Given the description of an element on the screen output the (x, y) to click on. 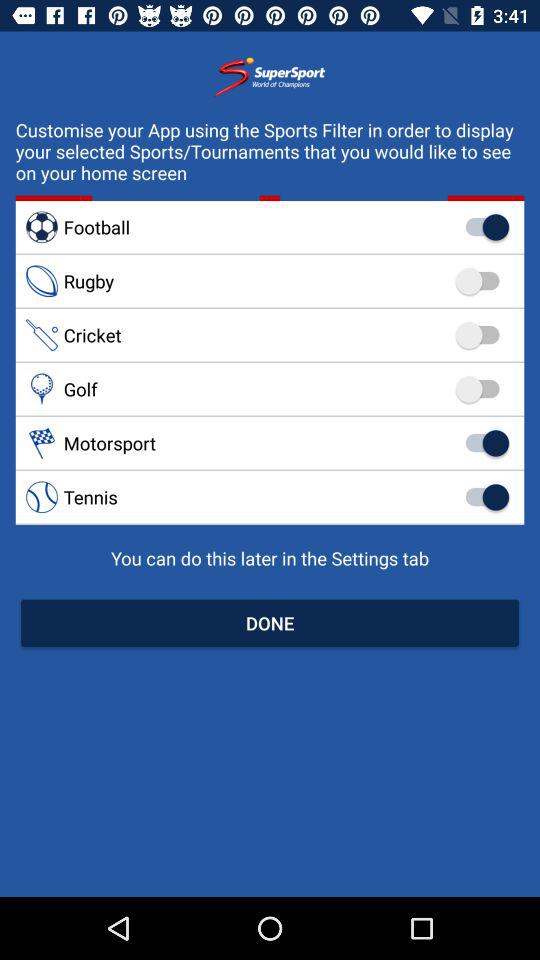
tap the motorsport (269, 442)
